Given the description of an element on the screen output the (x, y) to click on. 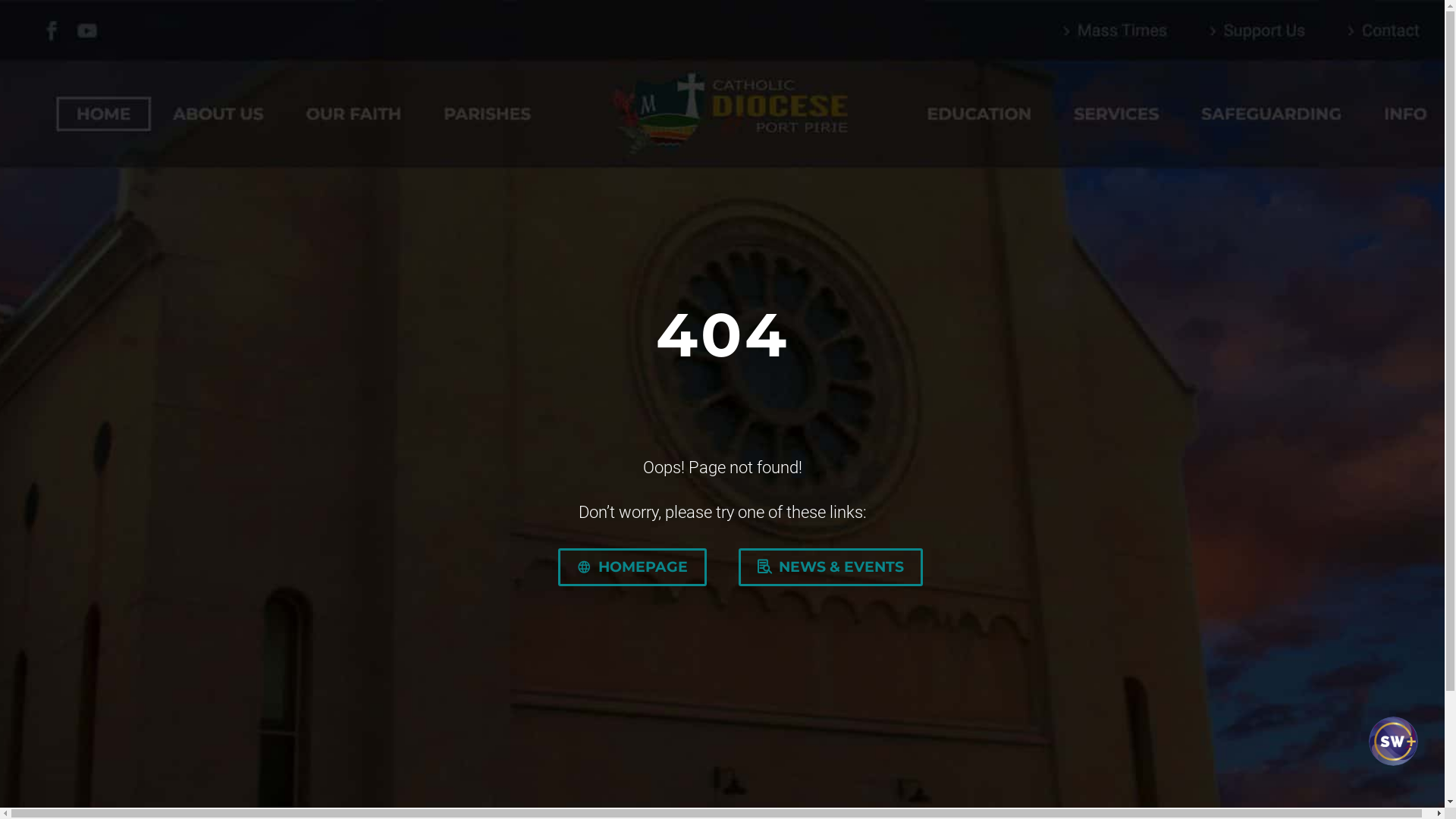
HOMEPAGE Element type: text (632, 567)
NEWS & EVENTS Element type: text (830, 567)
SW Plus Element type: hover (1391, 754)
